Given the description of an element on the screen output the (x, y) to click on. 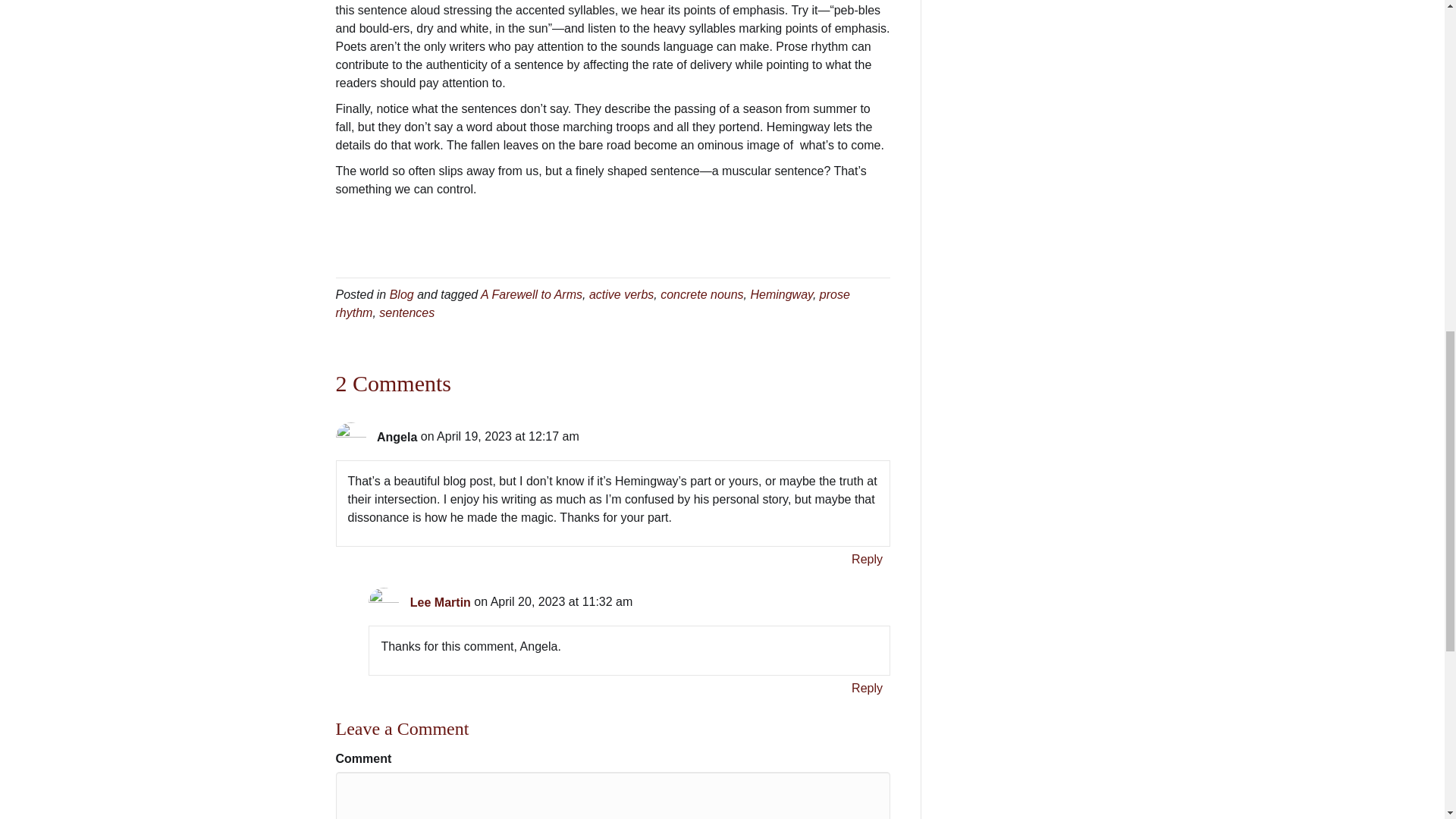
concrete nouns (701, 294)
sentences (405, 312)
Hemingway (780, 294)
active verbs (621, 294)
A Farewell to Arms (531, 294)
Blog (401, 294)
prose rhythm (591, 303)
Lee Martin (440, 602)
Reply (866, 688)
Reply (866, 558)
